Given the description of an element on the screen output the (x, y) to click on. 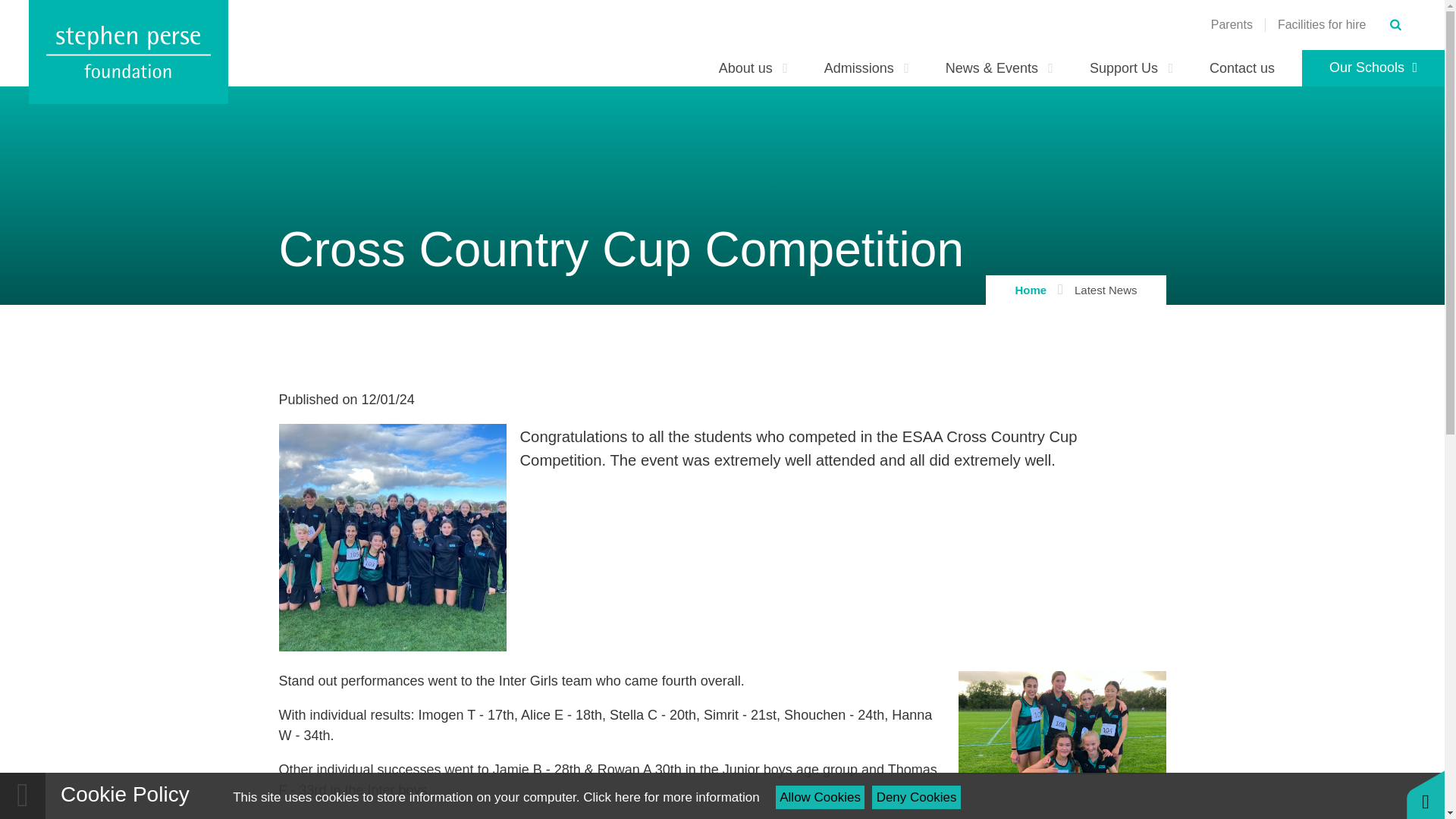
Facilities for hire (1321, 24)
About us (753, 67)
Admissions (866, 67)
Parents (1231, 24)
Cross Country Cup Competition (1062, 744)
See cookie policy (670, 797)
home (128, 52)
